Given the description of an element on the screen output the (x, y) to click on. 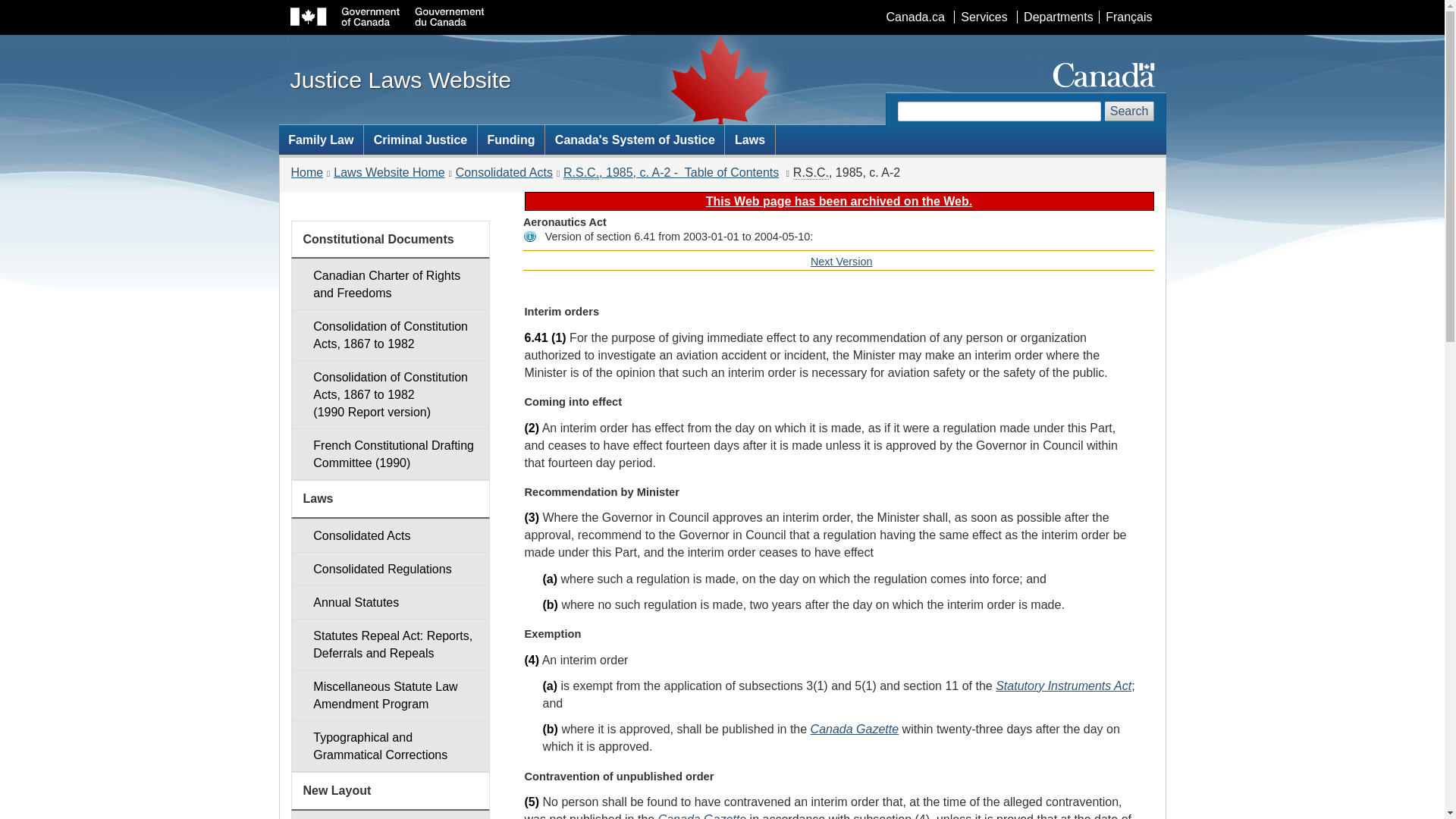
Canada Gazette (854, 728)
Home (307, 172)
6.41 (536, 337)
Annual Statutes (390, 602)
Consolidated Regulations (390, 569)
Consolidated Regulations and Orders (390, 569)
Skip to main content (725, 11)
Family Law (841, 261)
Canada's System of Justice (321, 139)
This Web page has been archived on the Web. (633, 139)
Canada Gazette (839, 201)
R.S.C., 1985, c. A-2 -  Table of Contents (702, 816)
Statutory Instruments Act (670, 172)
Funding (1063, 685)
